Given the description of an element on the screen output the (x, y) to click on. 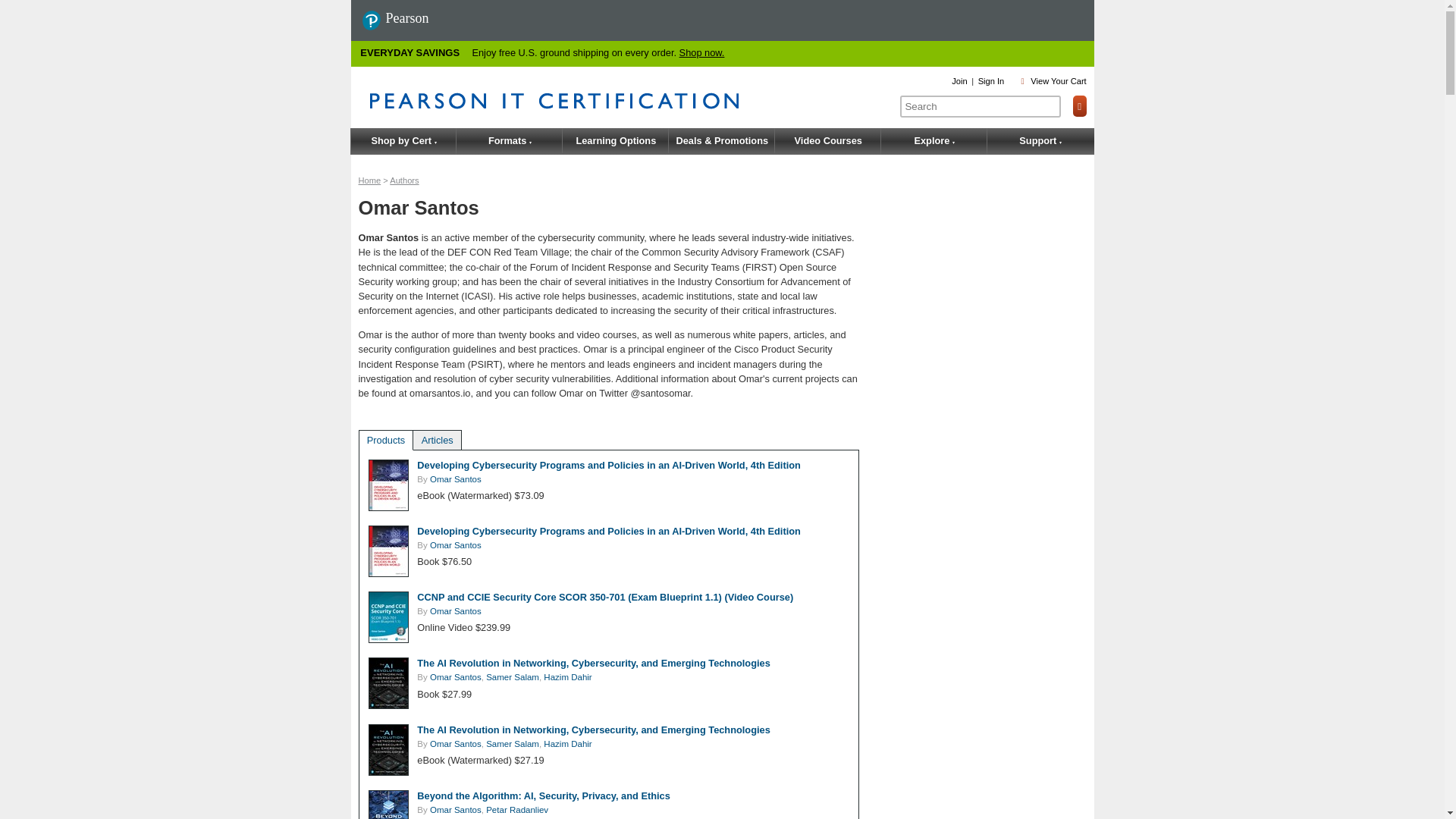
Articles (437, 439)
Products (386, 439)
Omar Santos (455, 809)
Beyond the Algorithm: AI, Security, Privacy, and Ethics (542, 795)
Authors (404, 180)
Home (369, 180)
Samer Salam (512, 676)
Hazim Dahir (567, 676)
Shop now. (702, 52)
Omar Santos (455, 743)
Samer Salam (512, 743)
Omar Santos (455, 479)
